Given the description of an element on the screen output the (x, y) to click on. 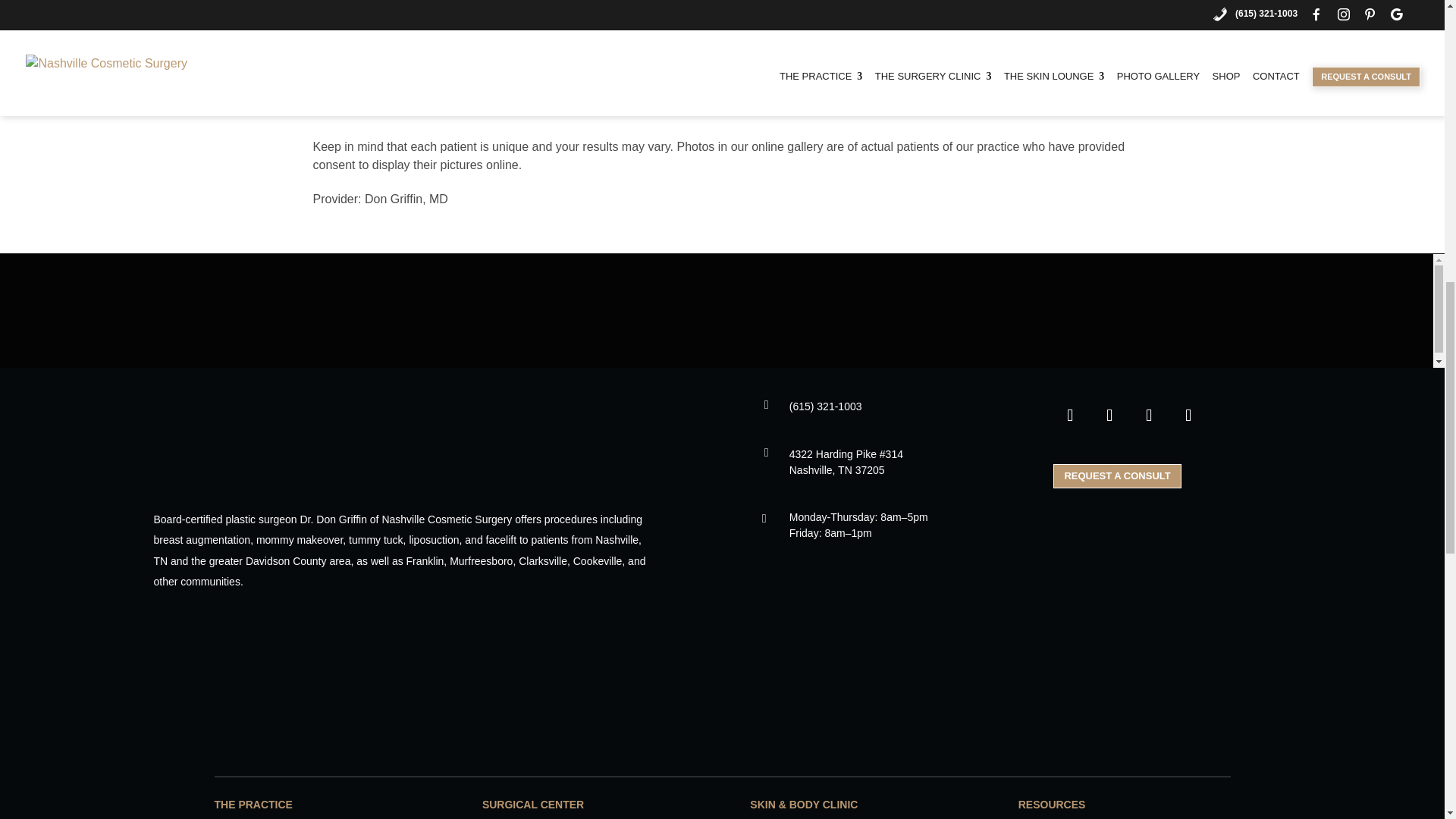
Follow on Pinterest (1149, 415)
Follow on Google (1188, 415)
creds2 (722, 693)
Nashville Cosmetic Center-logo-wht (365, 438)
Follow on Instagram (1109, 415)
Follow on Facebook (1069, 415)
